Given the description of an element on the screen output the (x, y) to click on. 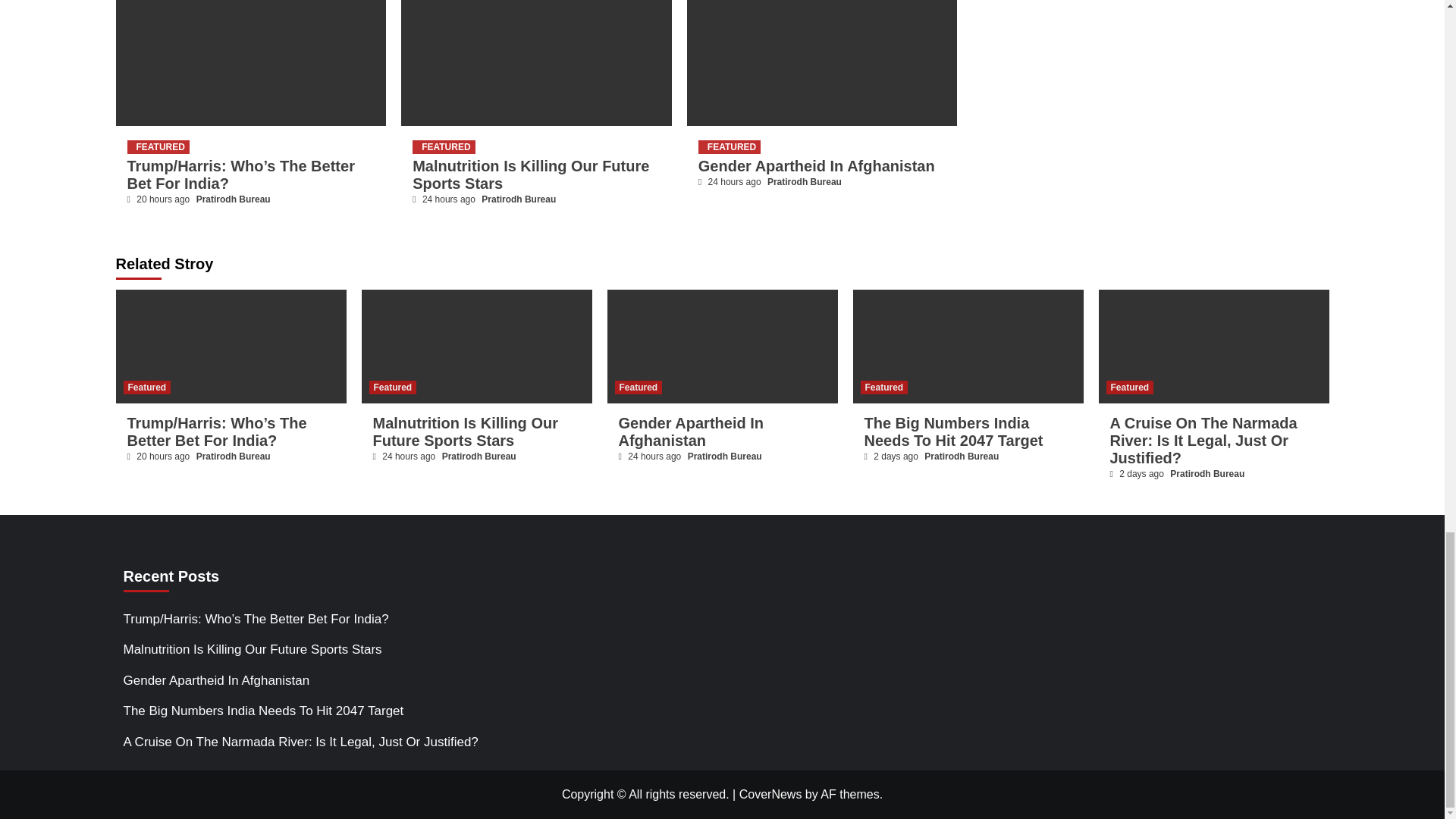
Gender Apartheid In Afghanistan (816, 166)
Pratirodh Bureau (804, 181)
Malnutrition Is Killing Our Future Sports Stars (530, 174)
Pratirodh Bureau (518, 199)
FEATURED (443, 146)
FEATURED (158, 146)
FEATURED (729, 146)
Pratirodh Bureau (233, 199)
